Given the description of an element on the screen output the (x, y) to click on. 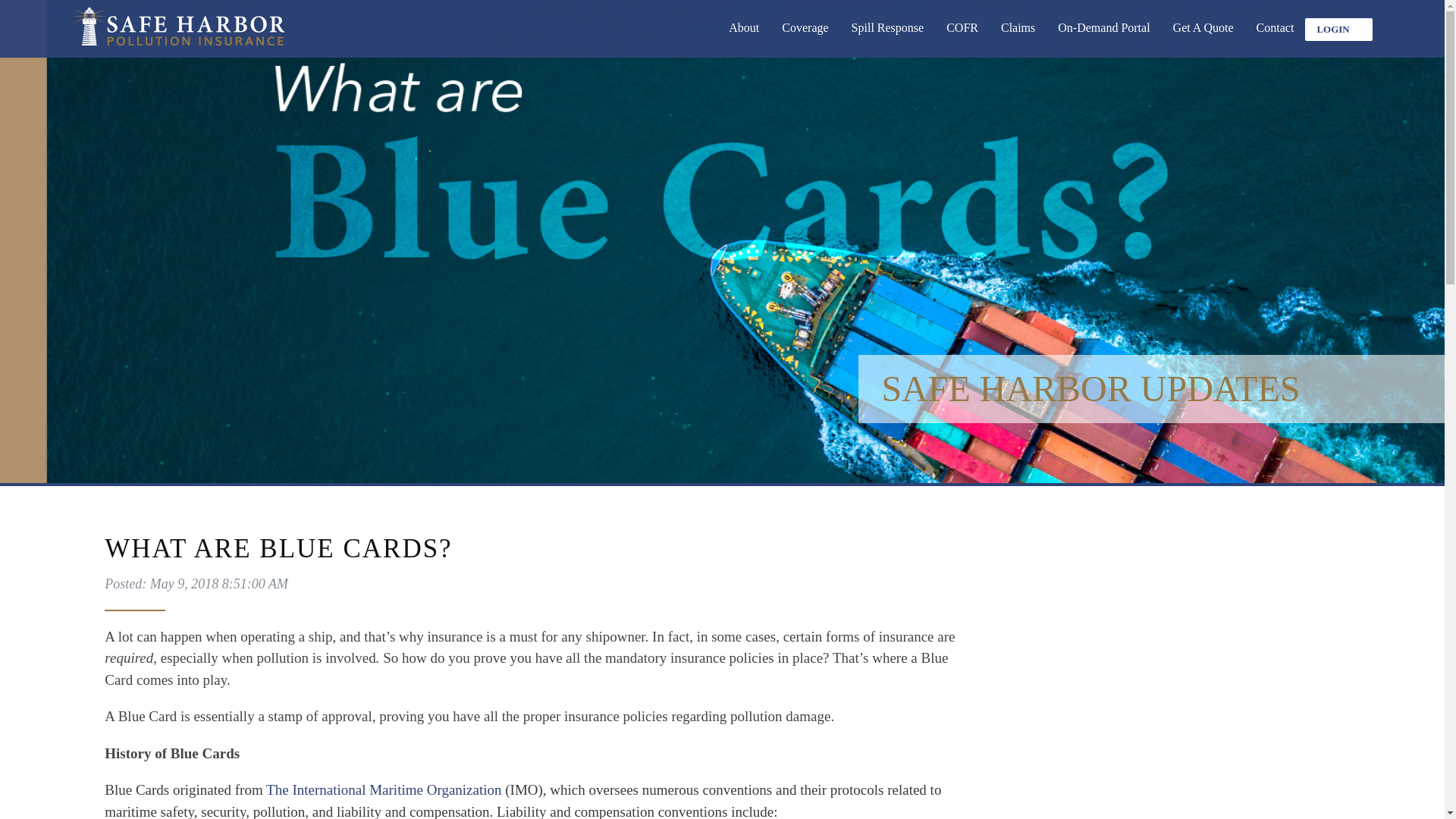
COFR (962, 36)
LOGIN (1337, 29)
Claims (1018, 36)
On-Demand Portal (1103, 36)
About (743, 36)
Get A Quote (1202, 36)
Spill Response (888, 36)
Contact (1275, 36)
Coverage (805, 36)
The International Maritime Organization (383, 789)
